Given the description of an element on the screen output the (x, y) to click on. 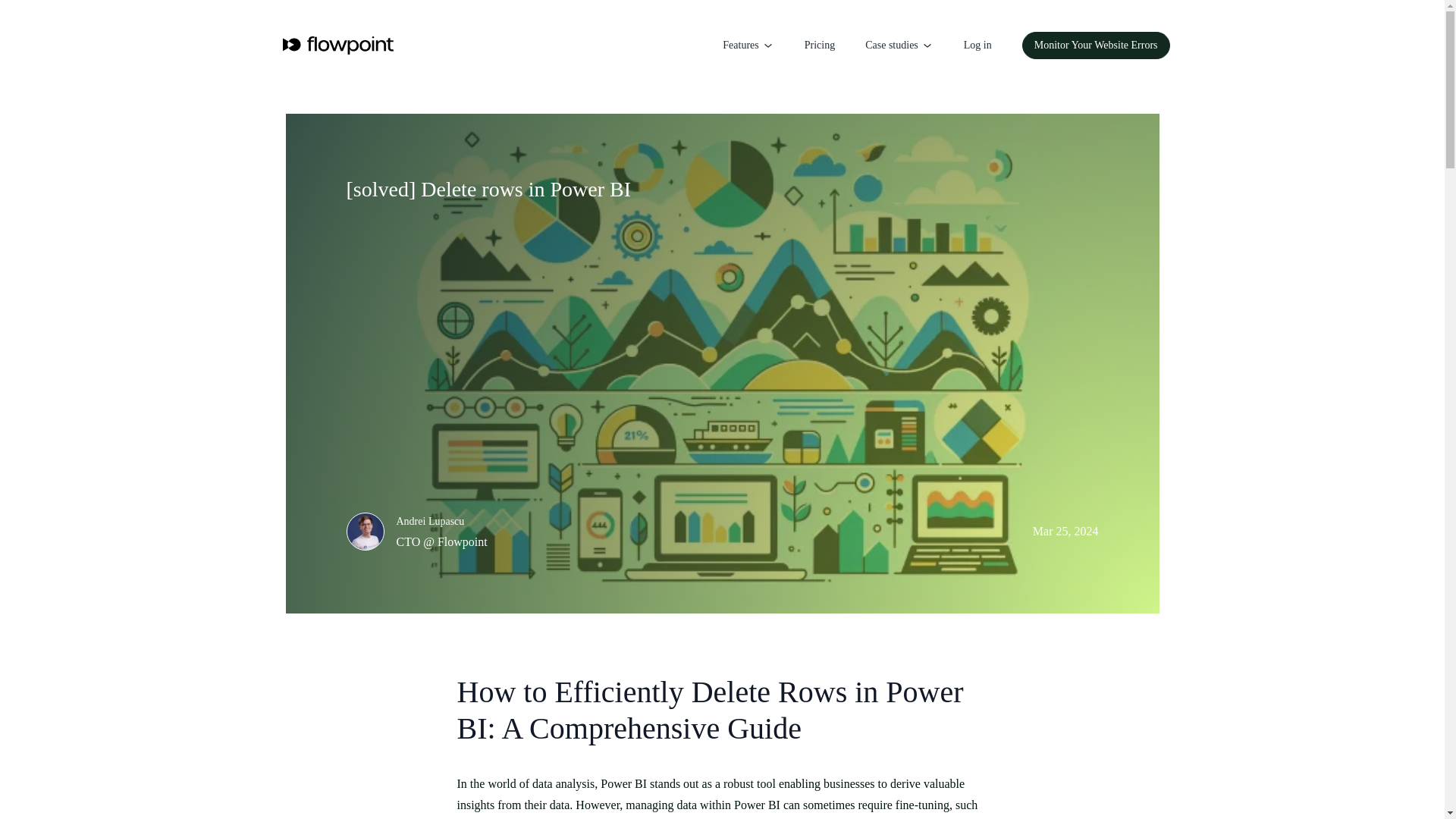
Pricing (819, 45)
Monitor Your Website Errors (1096, 44)
Log in (977, 45)
